Given the description of an element on the screen output the (x, y) to click on. 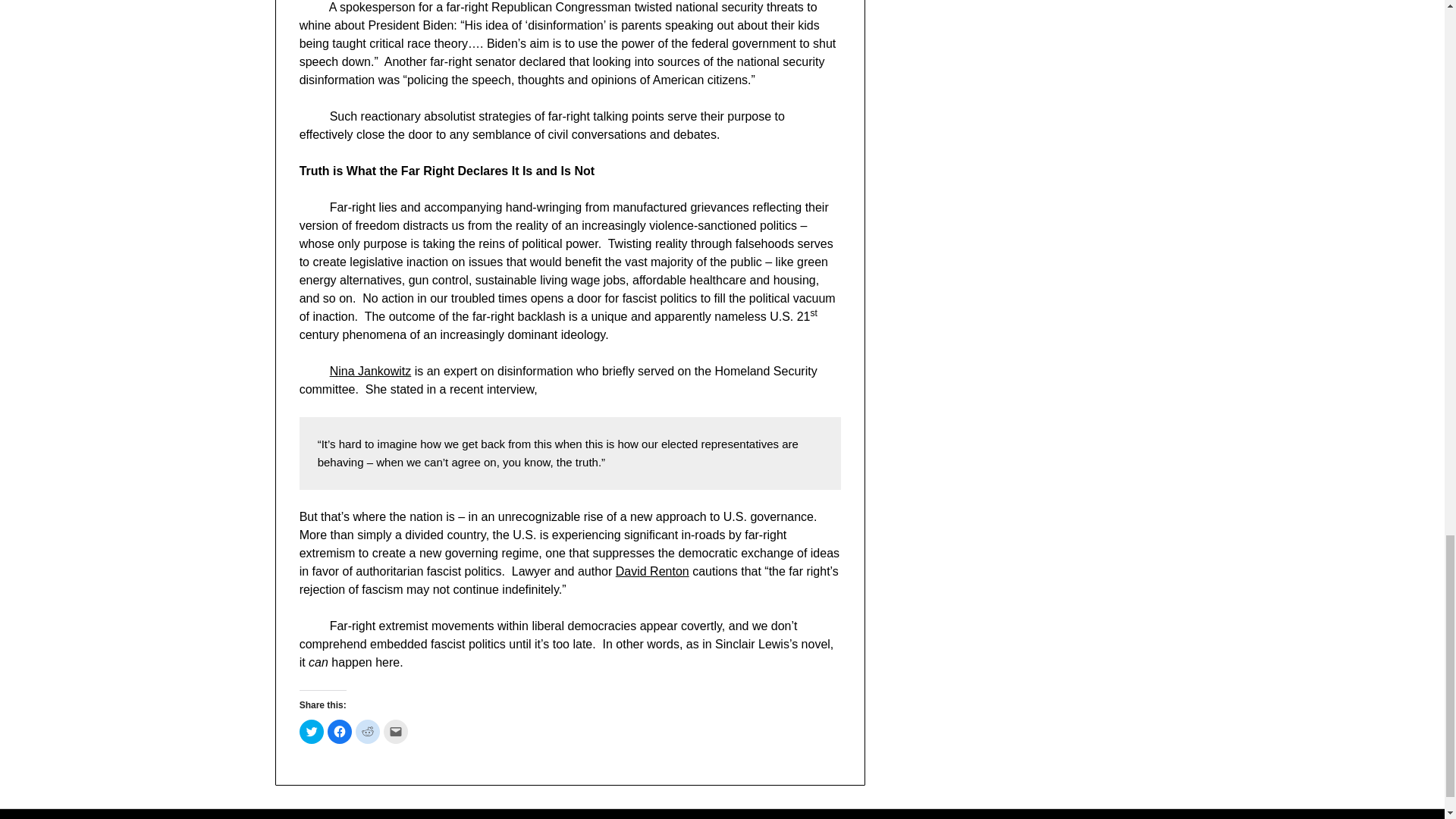
Click to share on Twitter (311, 731)
Click to email a link to a friend (395, 731)
Davi (627, 571)
Click to share on Reddit (367, 731)
Click to share on Facebook (339, 731)
ina Jankowitz (373, 370)
d Renton (664, 571)
N (334, 370)
